Given the description of an element on the screen output the (x, y) to click on. 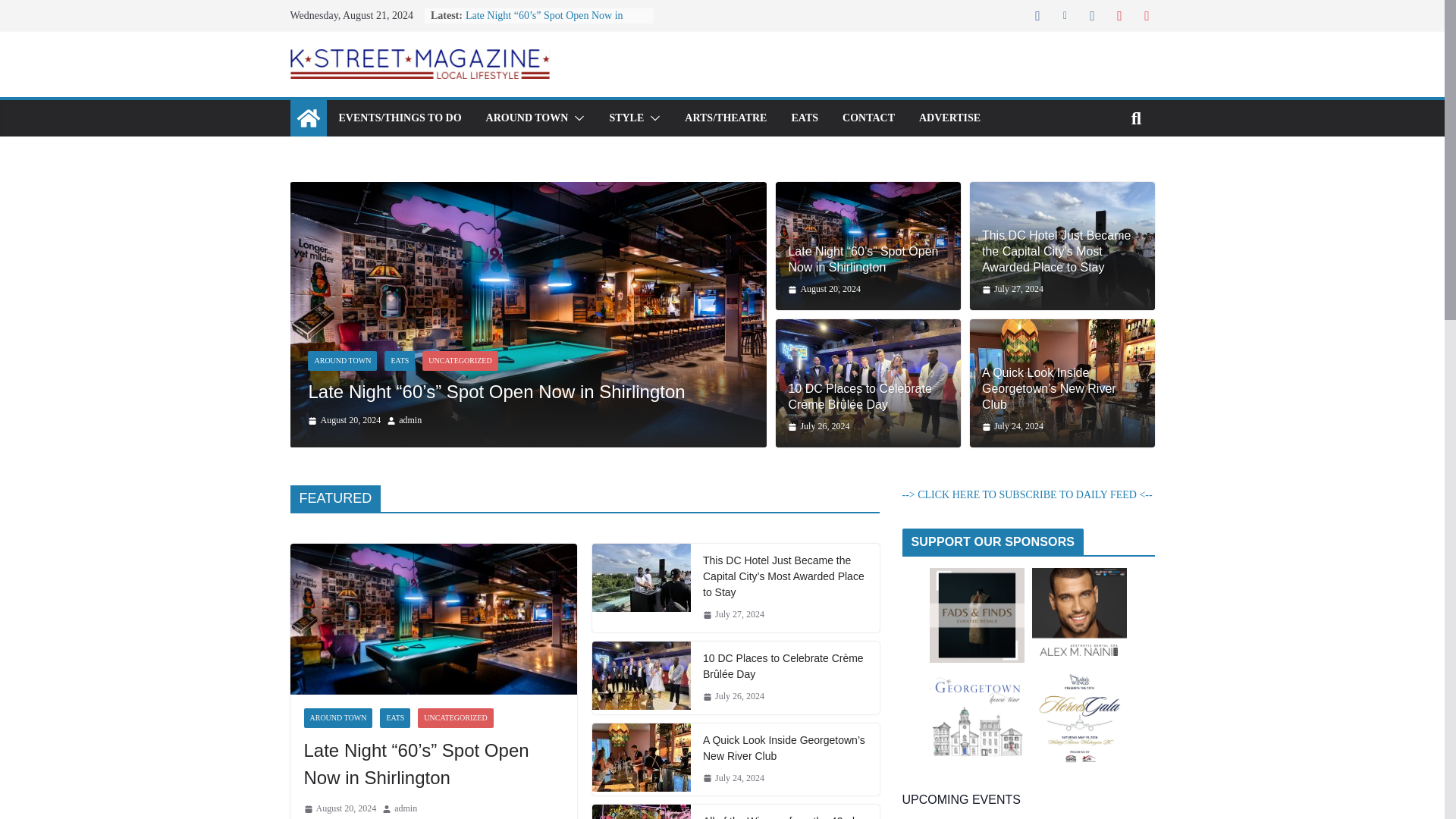
EATS (399, 361)
4:07 pm (343, 420)
ADVERTISE (948, 117)
AROUND TOWN (342, 361)
K Street Magazine (307, 117)
admin (410, 420)
admin (410, 420)
UNCATEGORIZED (459, 361)
EATS (804, 117)
August 20, 2024 (343, 420)
